Given the description of an element on the screen output the (x, y) to click on. 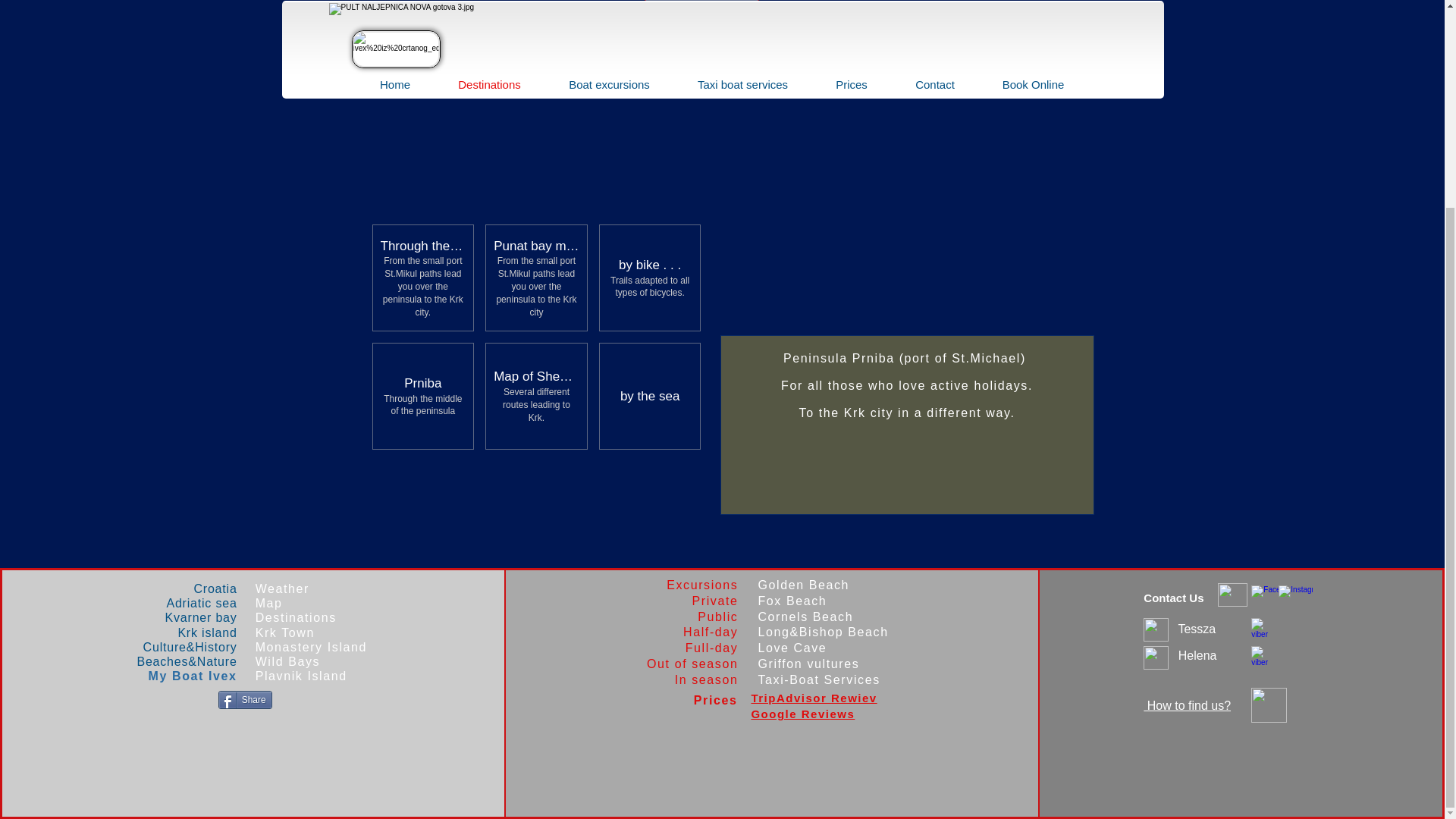
       Adriatic sea (188, 603)
      Kvarner bay (189, 617)
              Croatia (187, 588)
Wild Bays (288, 661)
Krk Town (285, 632)
Share (245, 700)
Map (269, 603)
street office (962, 30)
Monastery Island (311, 646)
Plavnik Island (301, 675)
